Given the description of an element on the screen output the (x, y) to click on. 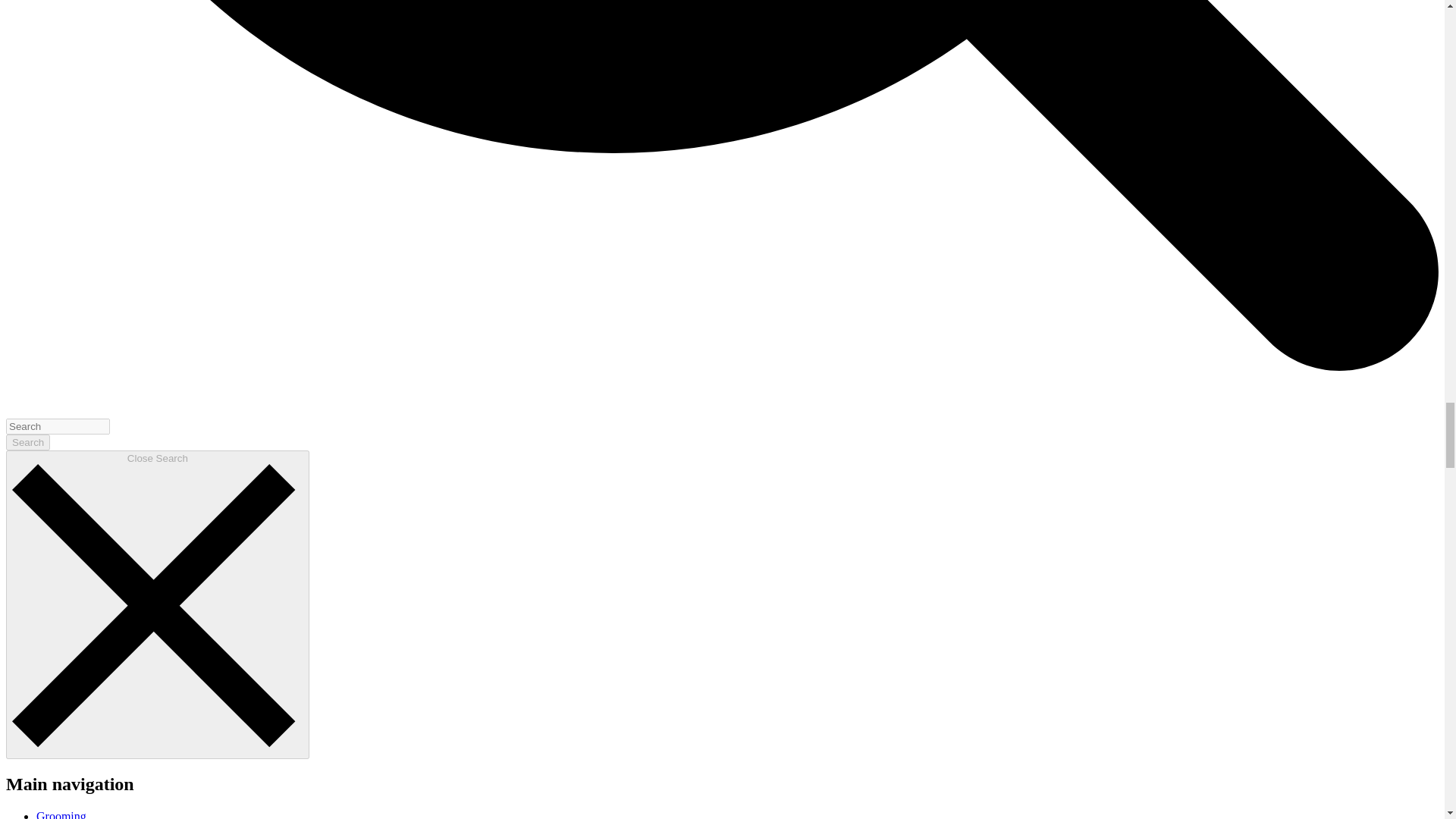
Search (27, 442)
Enter the terms you wish to search for. (57, 426)
Search (27, 442)
